Given the description of an element on the screen output the (x, y) to click on. 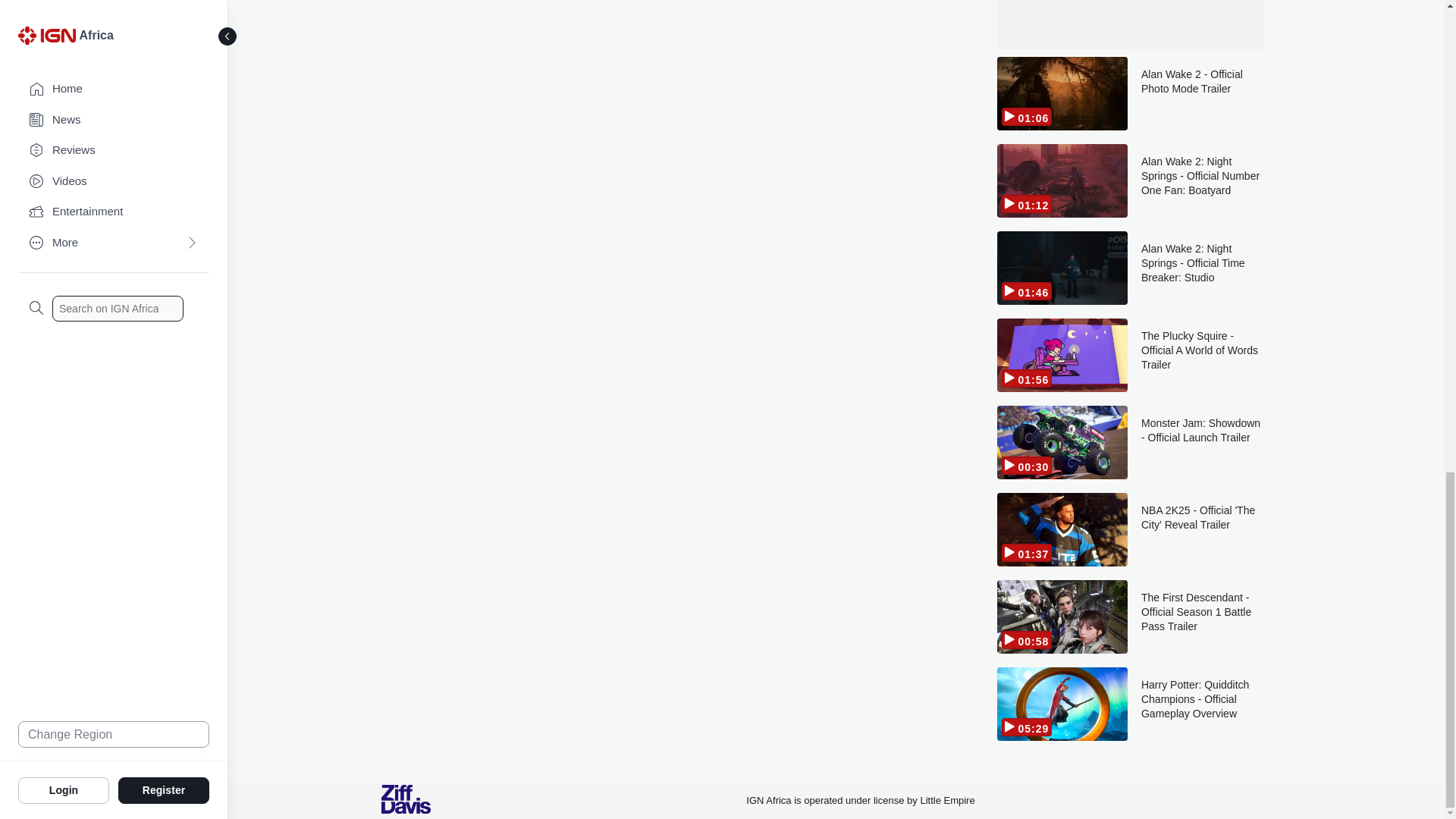
01:06 (1060, 93)
Alan Wake 2 - Official Photo Mode Trailer (1202, 93)
01:12 (1060, 180)
01:46 (1060, 267)
